Given the description of an element on the screen output the (x, y) to click on. 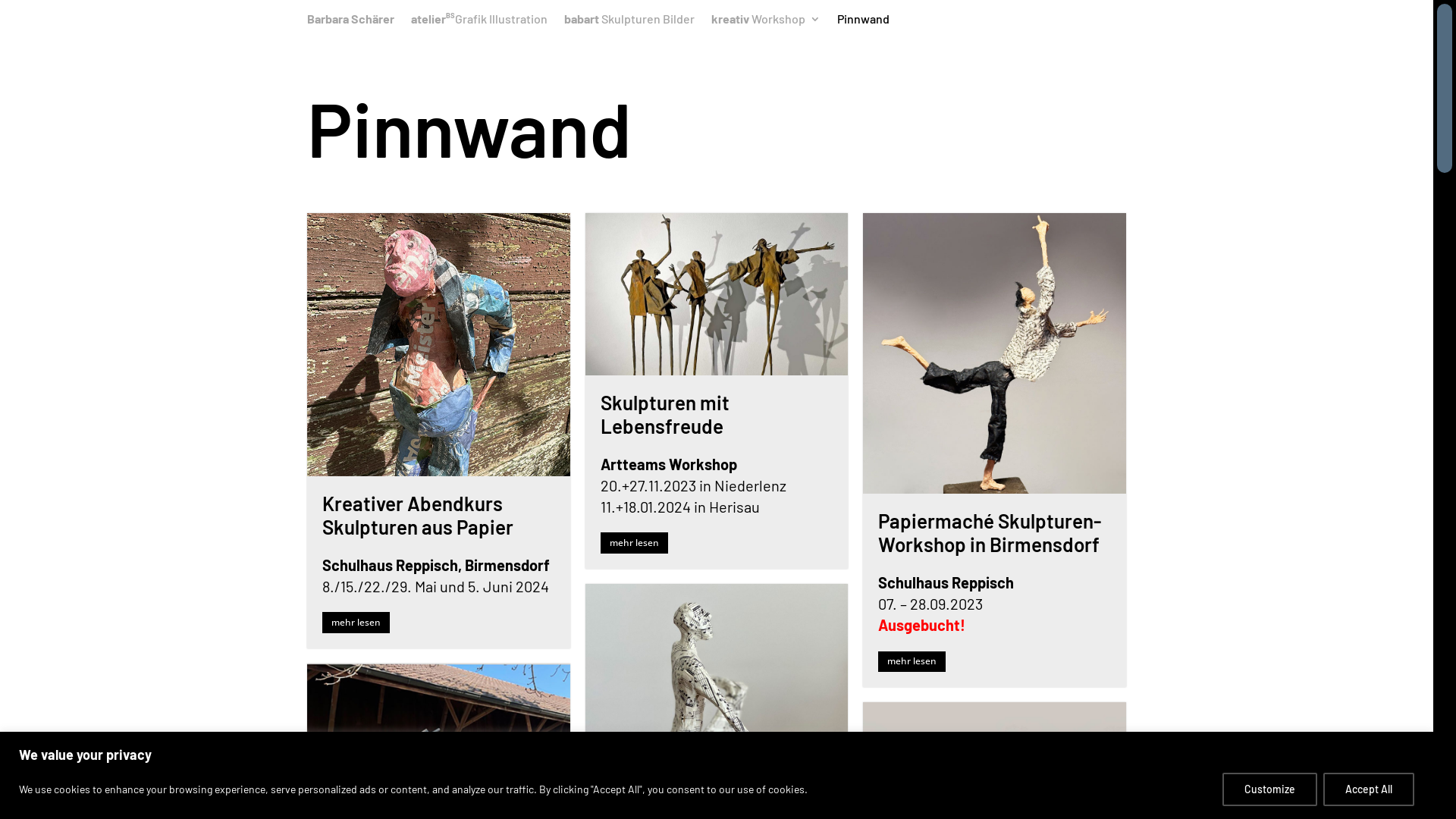
atelierBSGrafik Illustration Element type: text (479, 22)
mehr lesen Element type: text (355, 622)
babart Skulpturen Bilder Element type: text (629, 22)
Pinnwand Element type: text (863, 22)
mehr lesen Element type: text (634, 542)
mehr lesen Element type: text (911, 661)
Kreativer Abendkurs
Skulpturen aus Papier Element type: text (417, 514)
Skulpturen mit Lebensfreude Element type: text (664, 413)
Accept All Element type: text (1368, 788)
kreativ Workshop Element type: text (765, 22)
Customize Element type: text (1269, 788)
